Given the description of an element on the screen output the (x, y) to click on. 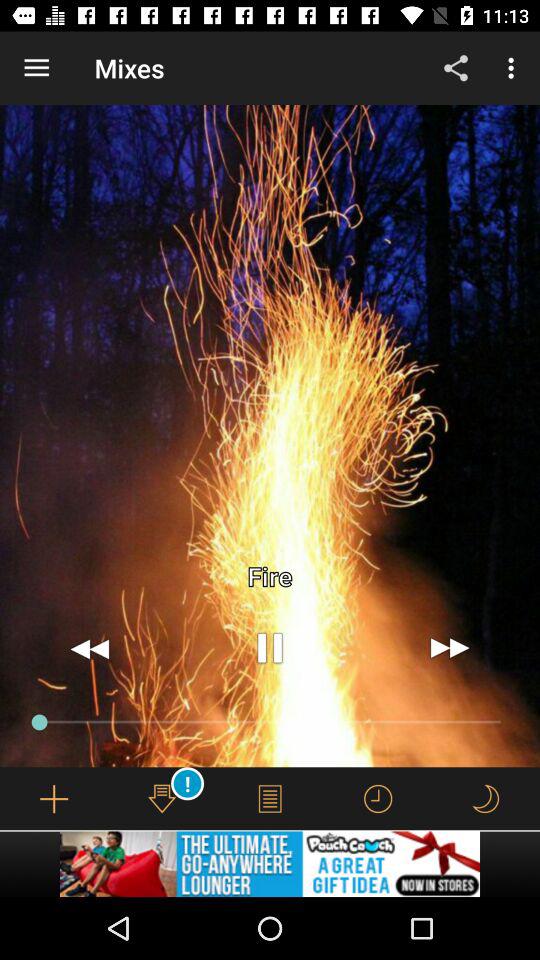
open item below the fire (450, 648)
